Given the description of an element on the screen output the (x, y) to click on. 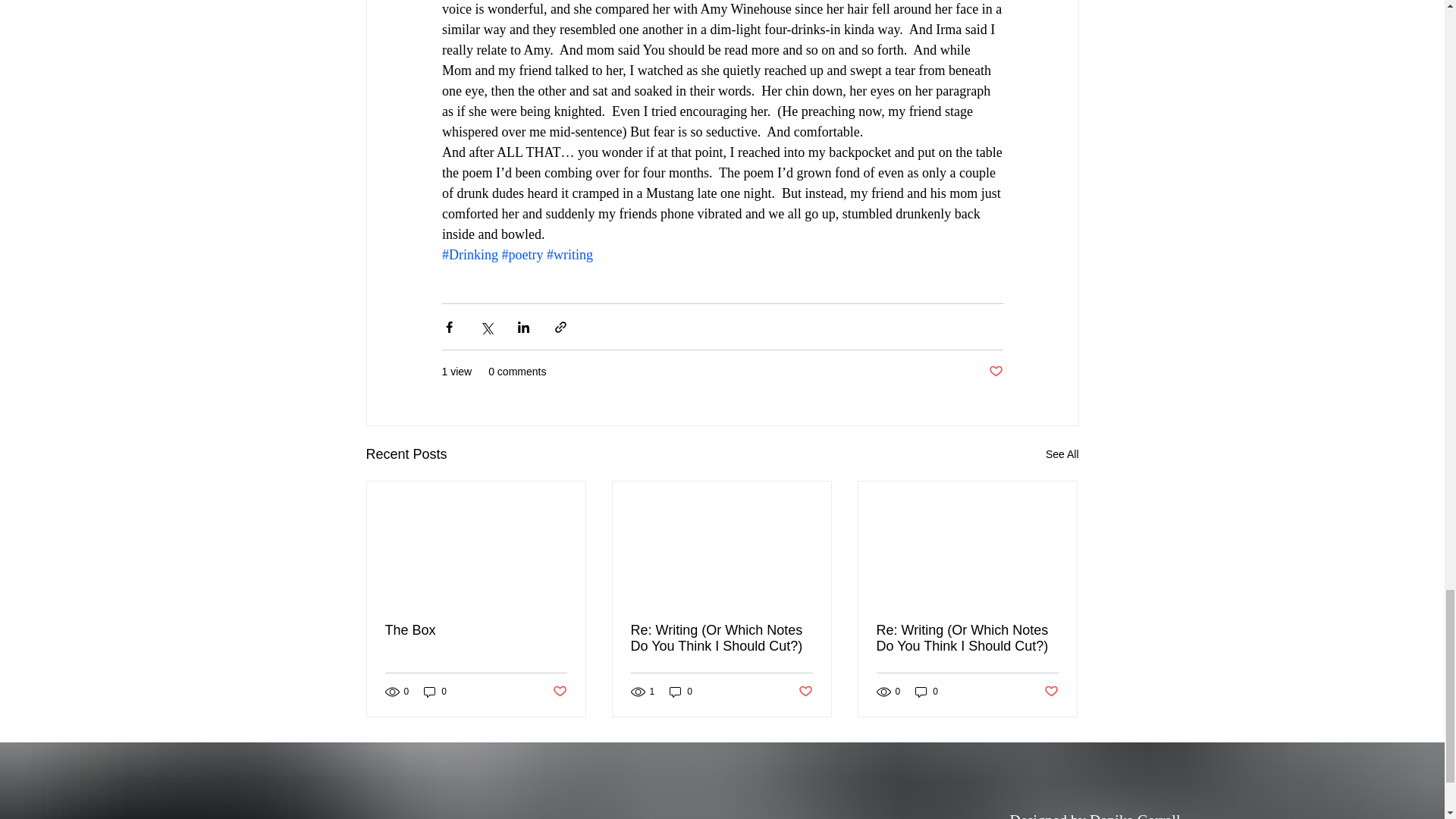
The Box (476, 630)
0 (681, 690)
Post not marked as liked (1050, 691)
0 (435, 690)
Danika Corrall (1134, 815)
0 (926, 690)
Post not marked as liked (804, 691)
See All (1061, 454)
Post not marked as liked (995, 371)
Post not marked as liked (558, 691)
